Given the description of an element on the screen output the (x, y) to click on. 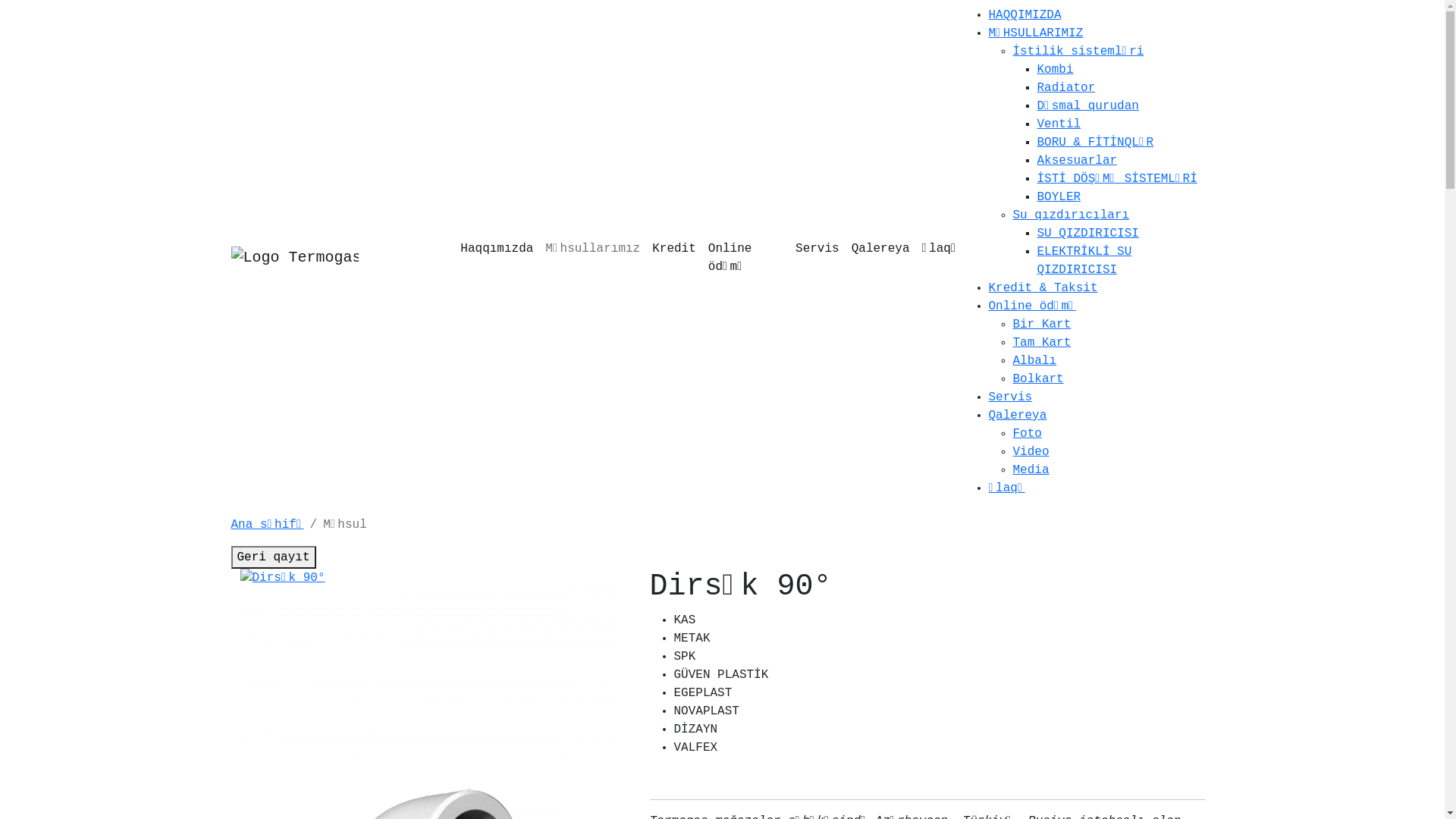
Ventil Element type: text (1059, 124)
Tam Kart Element type: text (1042, 342)
Video Element type: text (1031, 451)
HAQQIMIZDA Element type: text (1024, 14)
Kredit Element type: text (674, 248)
Kredit & Taksit Element type: text (1043, 287)
Bolkart Element type: text (1038, 378)
Bir Kart Element type: text (1042, 324)
SU QIZDIRICISI Element type: text (1088, 233)
BOYLER Element type: text (1059, 196)
Media Element type: text (1031, 469)
Aksesuarlar Element type: text (1077, 160)
Servis Element type: text (1010, 397)
Servis Element type: text (817, 248)
Foto Element type: text (1027, 433)
Qalereya Element type: text (1017, 415)
Radiator Element type: text (1066, 87)
Qalereya Element type: text (880, 248)
Kombi Element type: text (1055, 69)
